Given the description of an element on the screen output the (x, y) to click on. 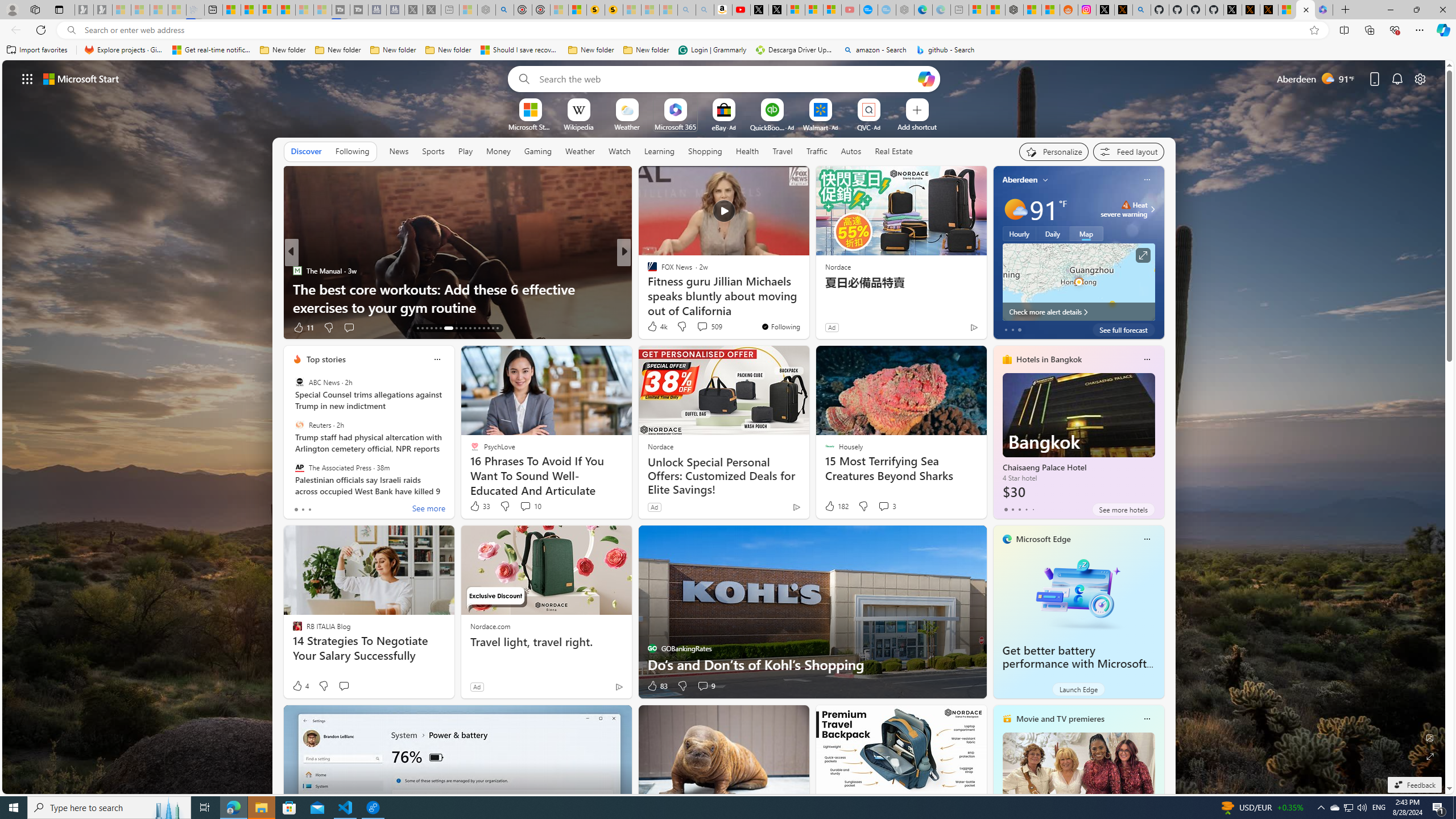
Learning (658, 151)
amazon - Search (875, 49)
Health (746, 151)
AutomationID: tab-15 (426, 328)
Login | Microsoft 365 (1324, 9)
Hourly (1018, 233)
These 5 Giant Animals Walked Alongside Ancient Humans (807, 298)
Heat - Severe Heat severe warning (1123, 208)
Reuters (299, 424)
AutomationID: tab-24 (474, 328)
